Given the description of an element on the screen output the (x, y) to click on. 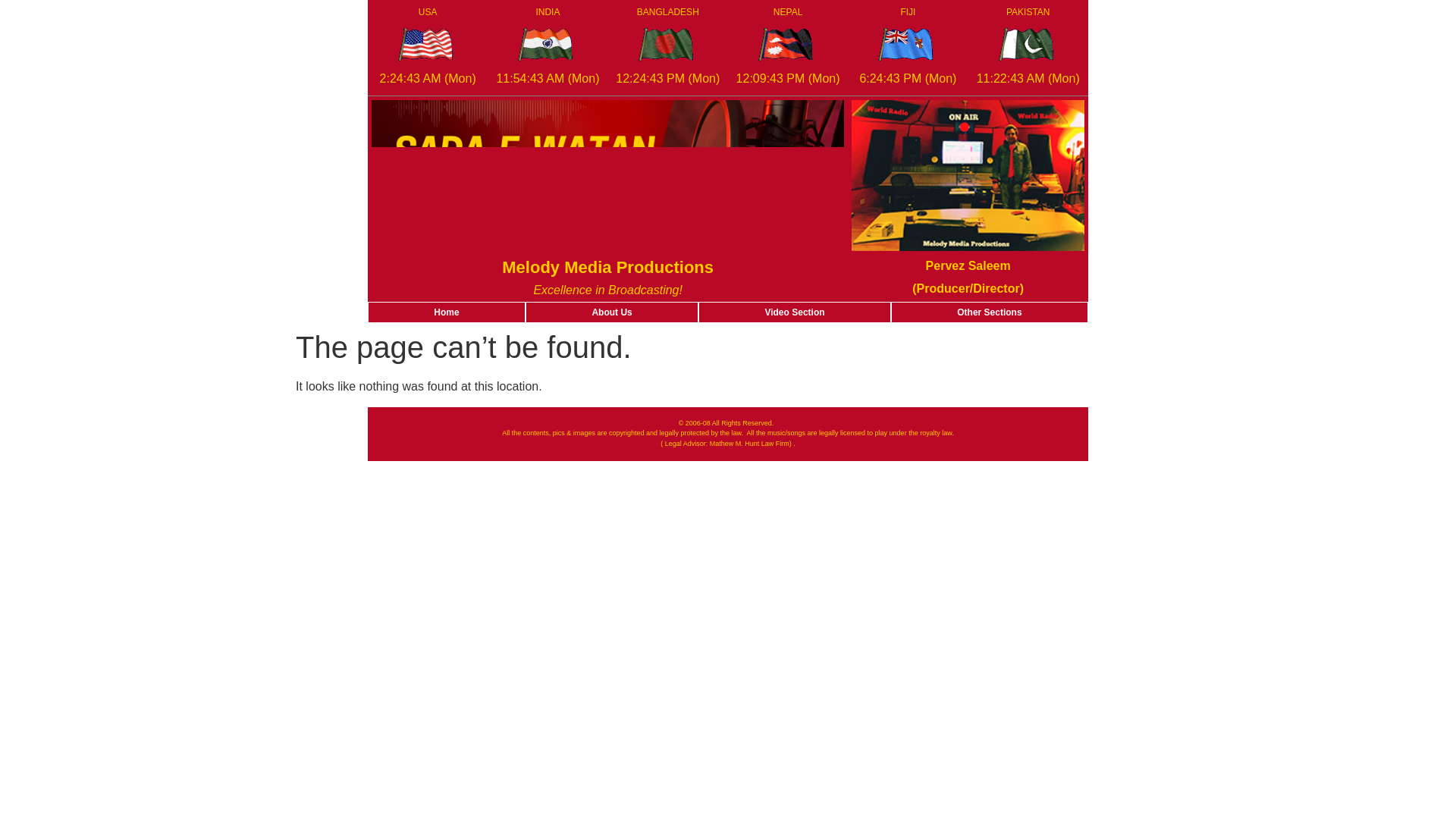
About Us (611, 312)
Home (446, 312)
Video Section (793, 312)
Other Sections (989, 312)
